Given the description of an element on the screen output the (x, y) to click on. 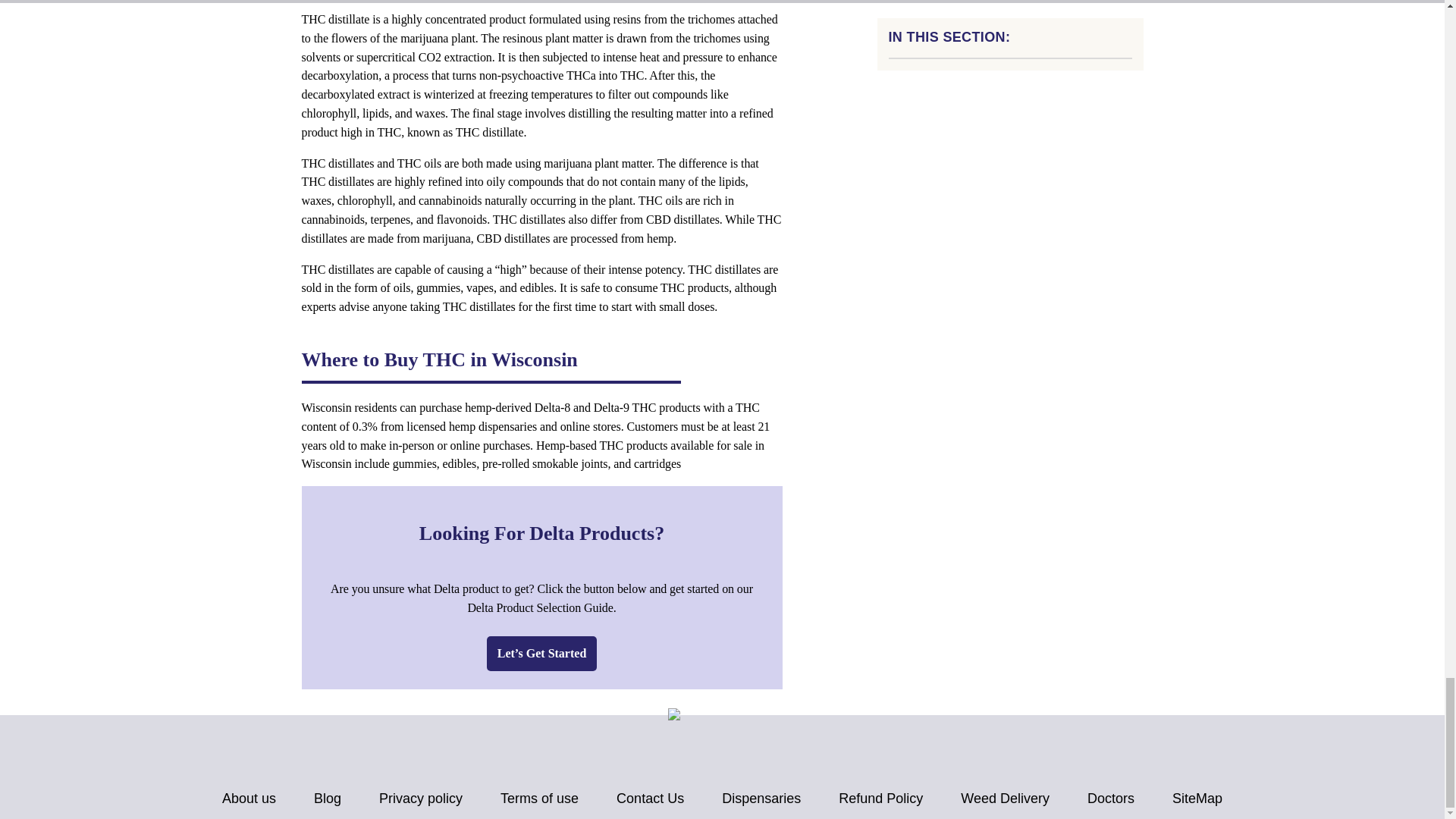
Doctors (1110, 798)
SiteMap (1197, 798)
Terms of use (539, 798)
Privacy policy (420, 798)
Contact Us (649, 798)
Blog (327, 798)
Refund Policy (880, 798)
Weed Delivery (1004, 798)
About us (249, 798)
Dispensaries (761, 798)
